Given the description of an element on the screen output the (x, y) to click on. 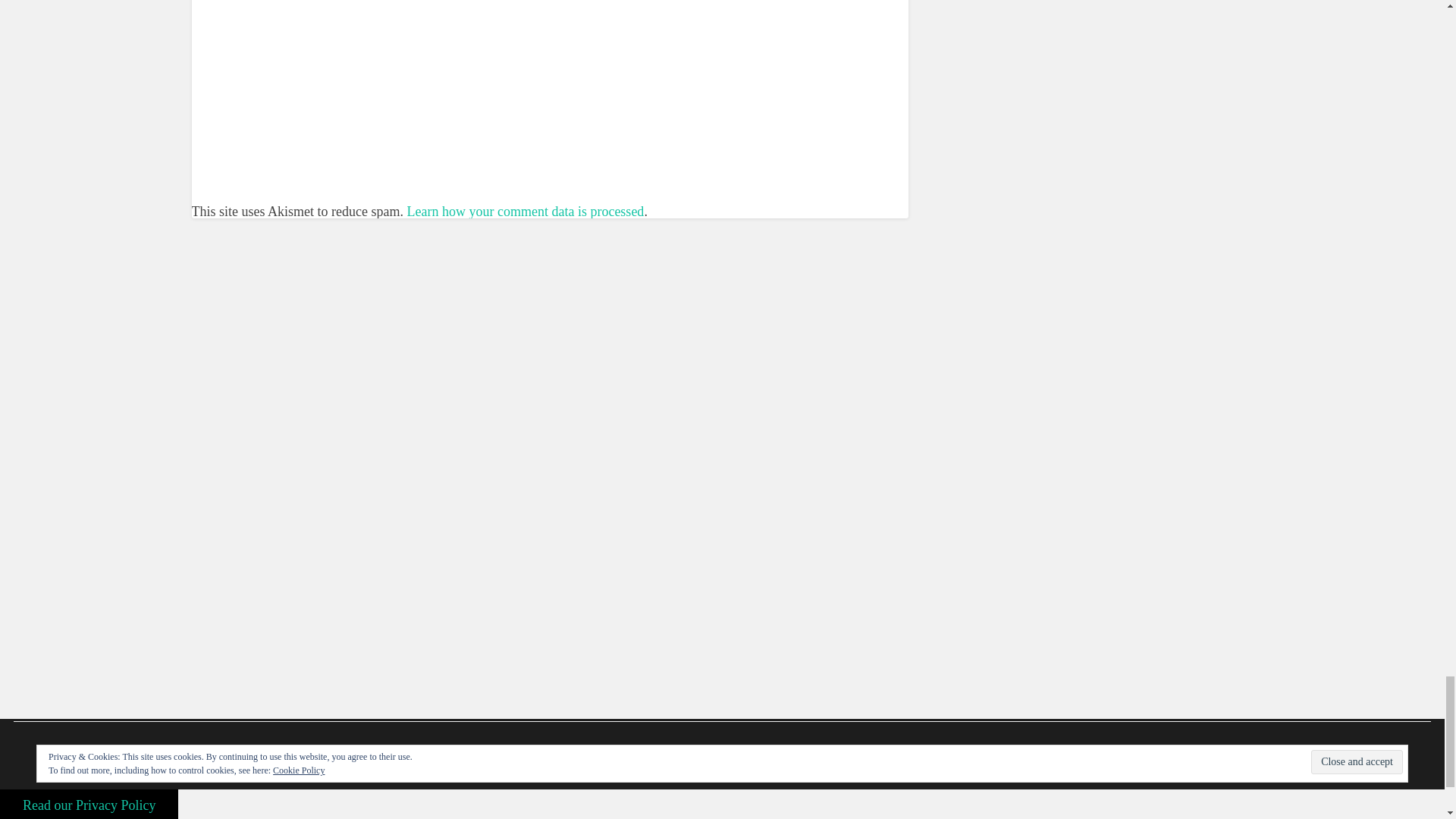
Comment Form (549, 58)
